Given the description of an element on the screen output the (x, y) to click on. 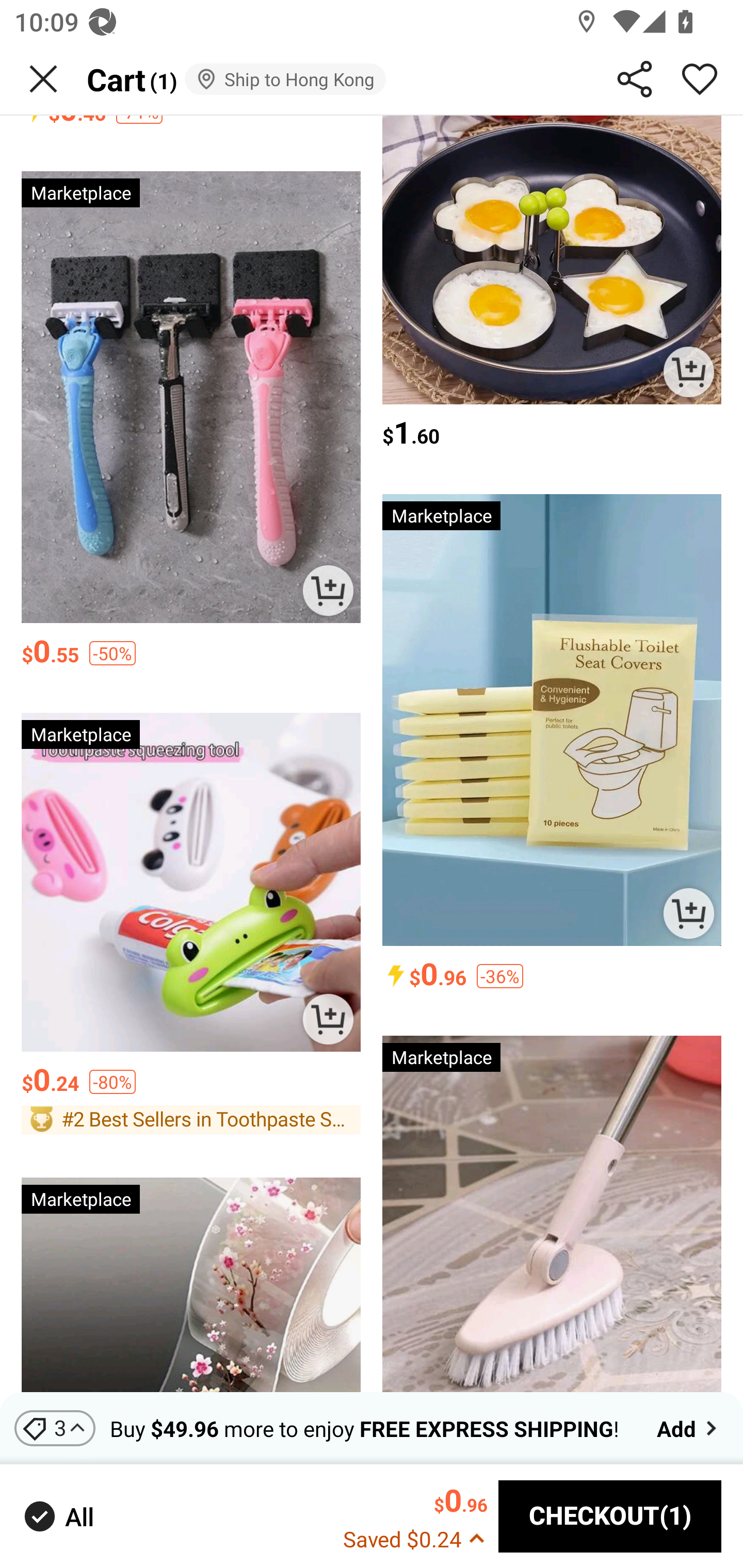
BACK (43, 78)
Wishlist (699, 78)
Share (634, 79)
Ship to Hong Kong (285, 78)
ADD TO CART (688, 371)
ADD TO CART (327, 590)
ADD TO CART (688, 913)
ADD TO CART (327, 1019)
3 (54, 1428)
Add (688, 1428)
CHECKOUT(1) (609, 1516)
All (57, 1517)
